Given the description of an element on the screen output the (x, y) to click on. 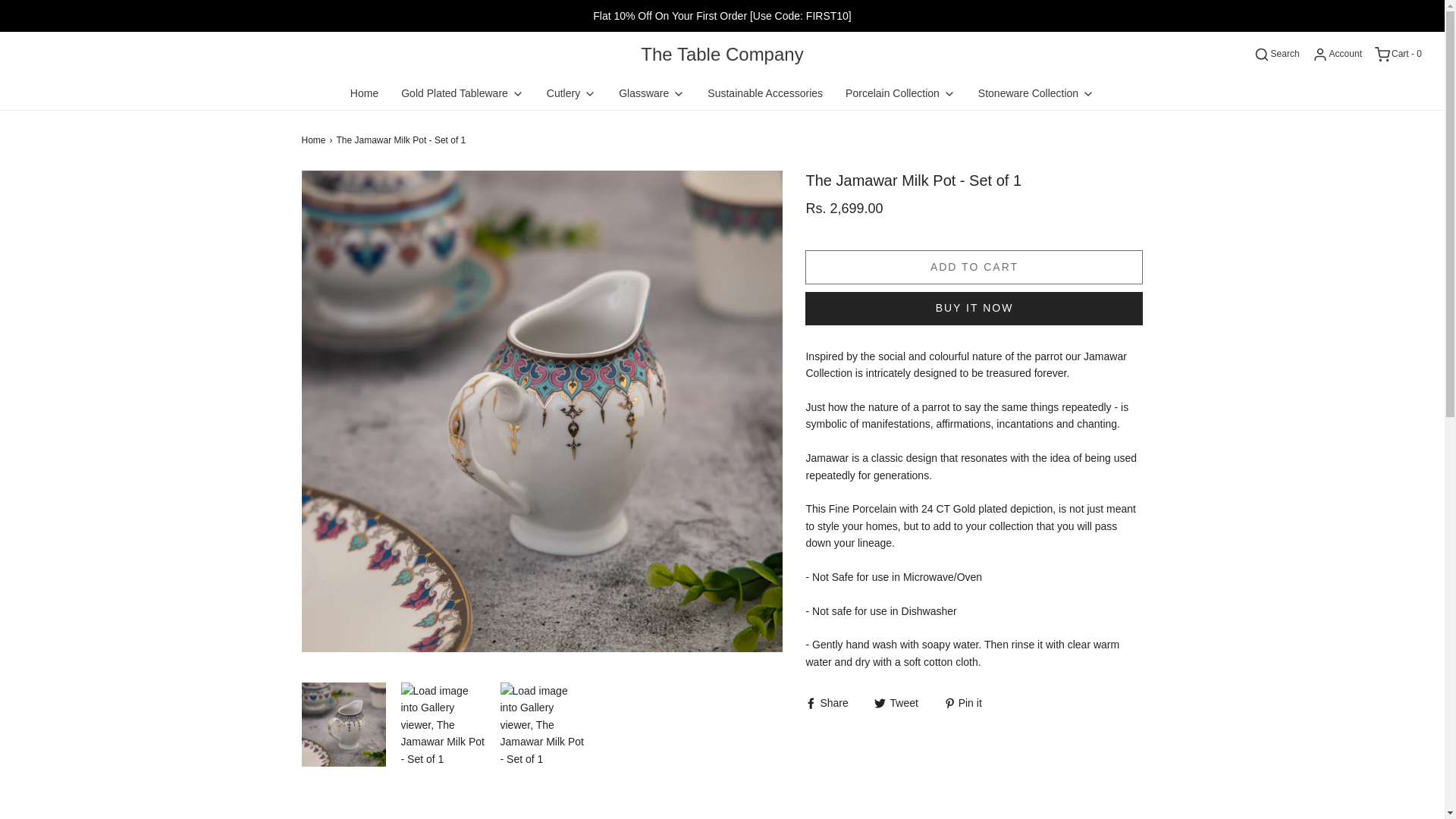
Log in (1336, 54)
Search (1423, 6)
Back to the frontpage (315, 140)
Search (1276, 54)
Cart (1397, 54)
